Given the description of an element on the screen output the (x, y) to click on. 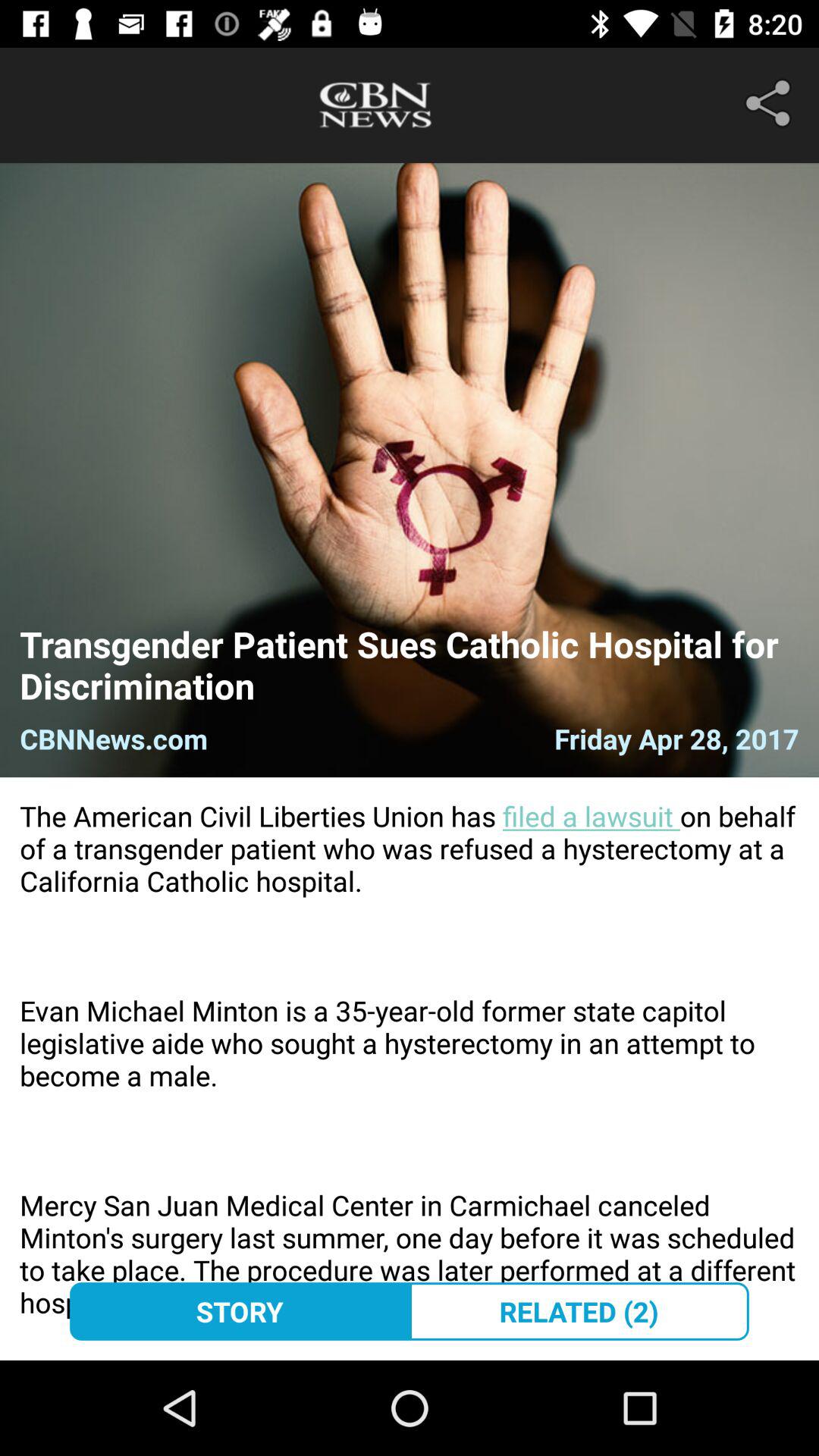
click icon to the left of related (2) icon (239, 1311)
